Given the description of an element on the screen output the (x, y) to click on. 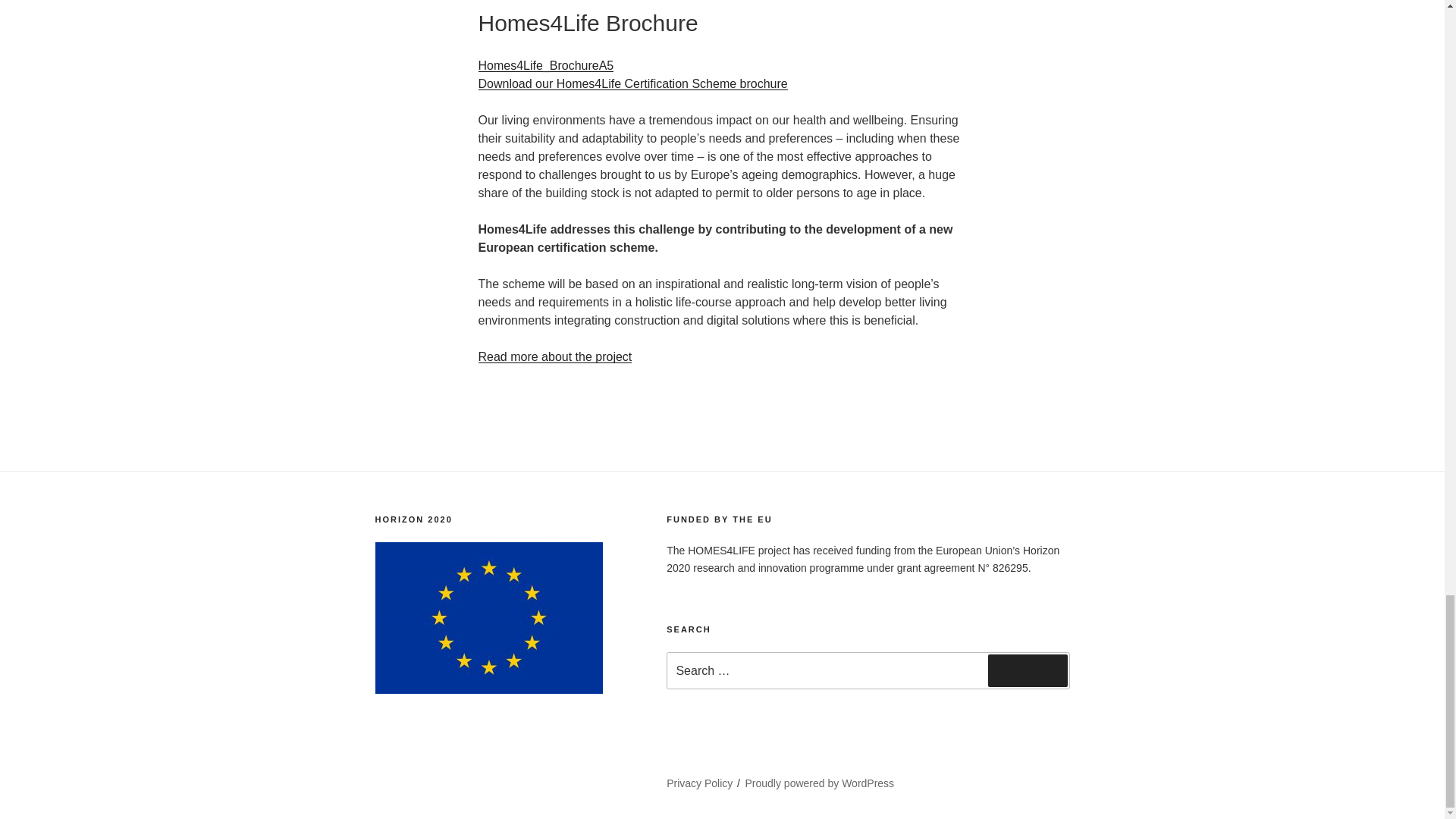
Download our Homes4Life Certification Scheme brochure (632, 83)
Read more about the project (554, 356)
Proudly powered by WordPress (820, 783)
Page 84 (867, 559)
Email (456, 777)
Twitter (397, 777)
Search (1027, 670)
Privacy Policy (699, 783)
